Given the description of an element on the screen output the (x, y) to click on. 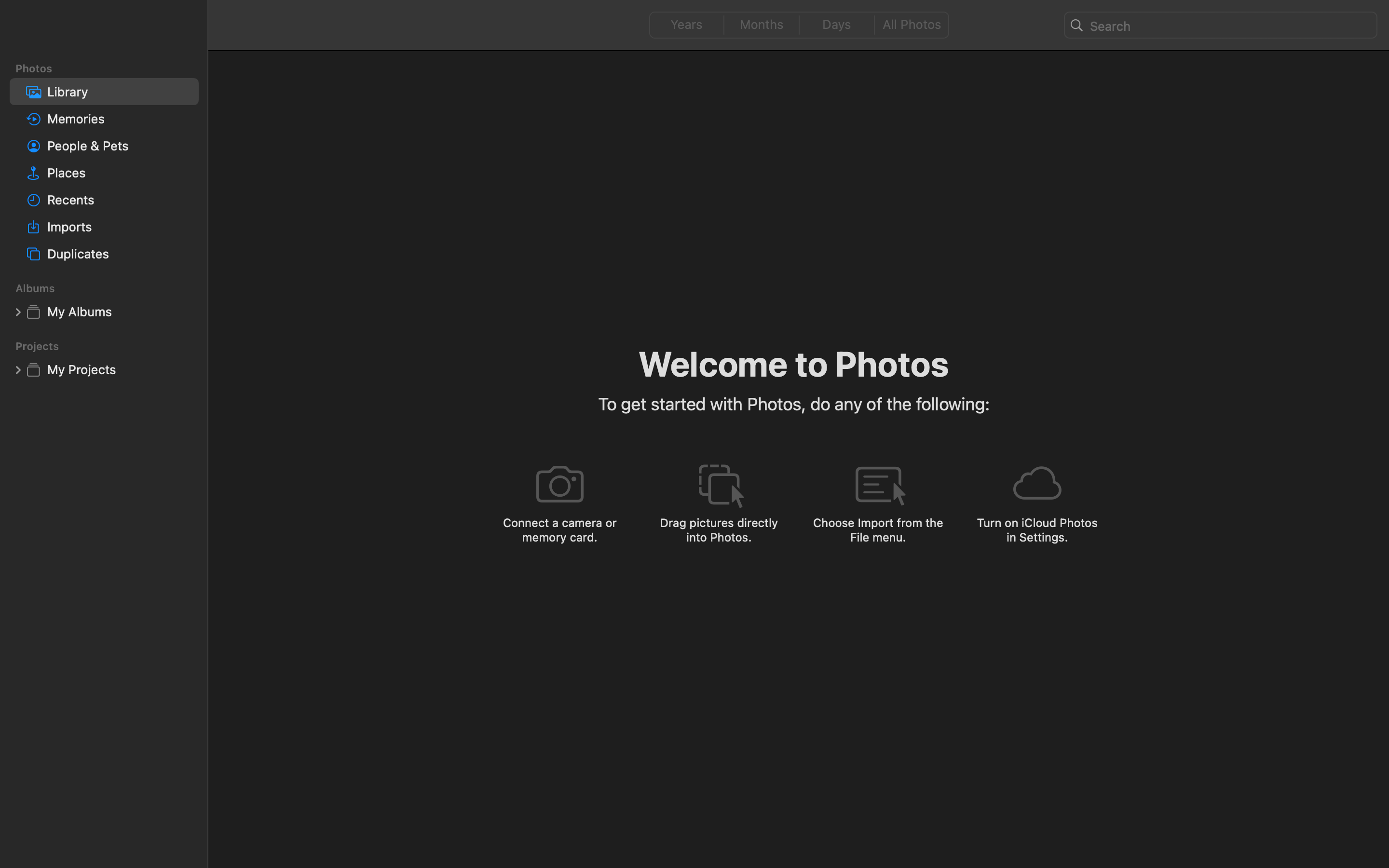
Projects Element type: AXStaticText (109, 345)
Photos Element type: AXStaticText (109, 68)
0 Element type: AXRadioButton (683, 24)
Drag pictures directly into Photos. Element type: AXStaticText (718, 529)
Choose Import from the File menu. Element type: AXStaticText (877, 529)
